Given the description of an element on the screen output the (x, y) to click on. 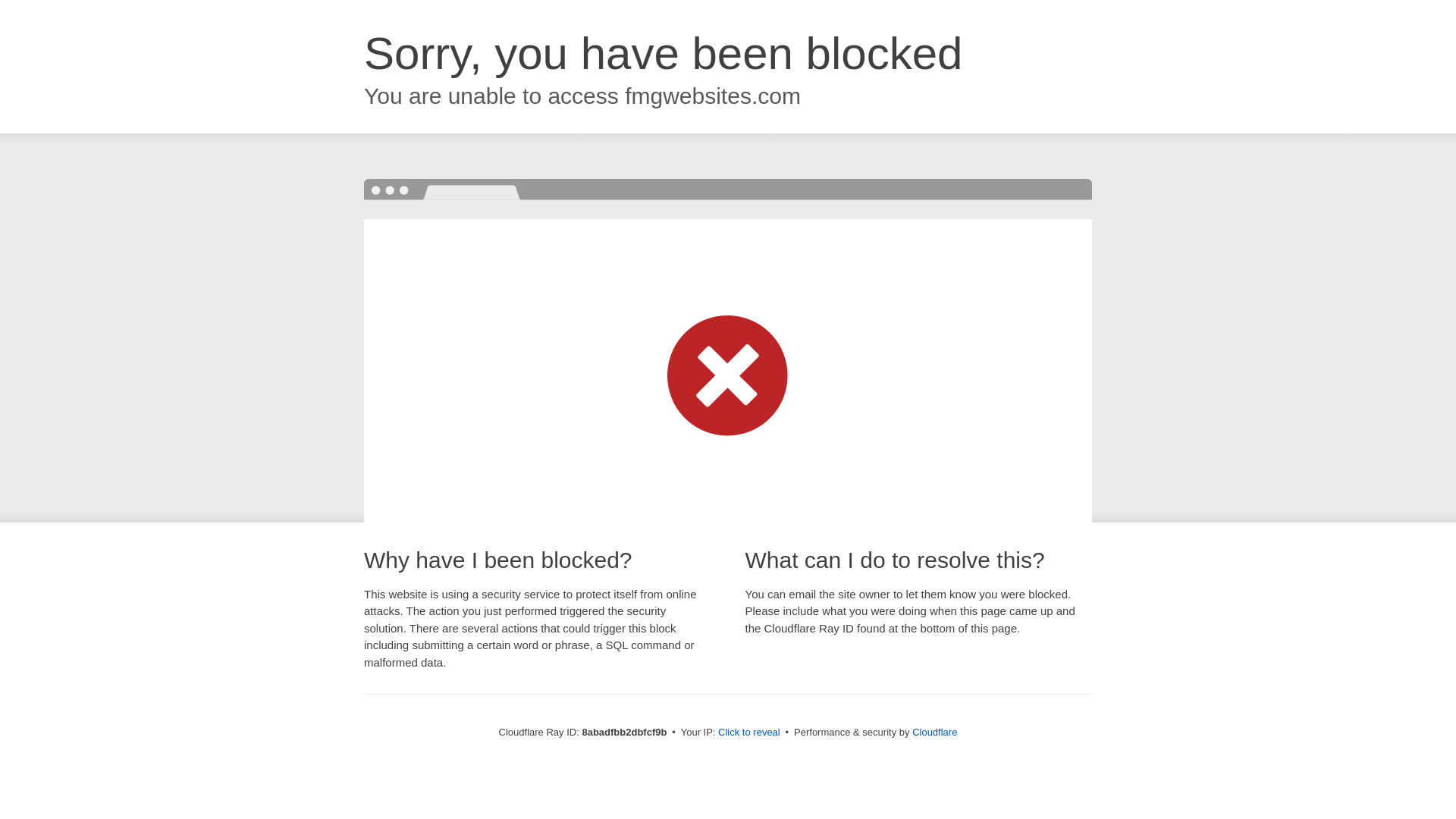
Cloudflare (934, 731)
Click to reveal (748, 732)
